Given the description of an element on the screen output the (x, y) to click on. 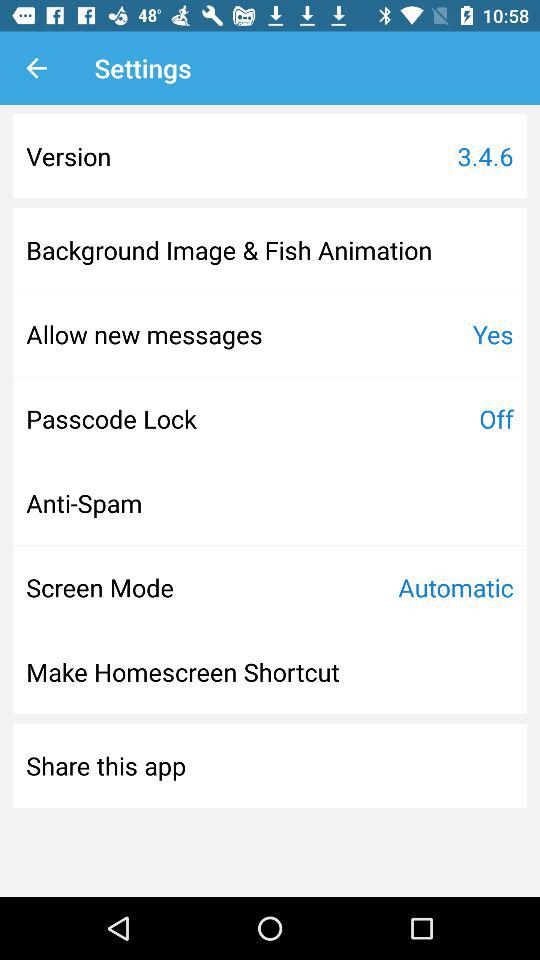
open icon above the off (492, 334)
